Given the description of an element on the screen output the (x, y) to click on. 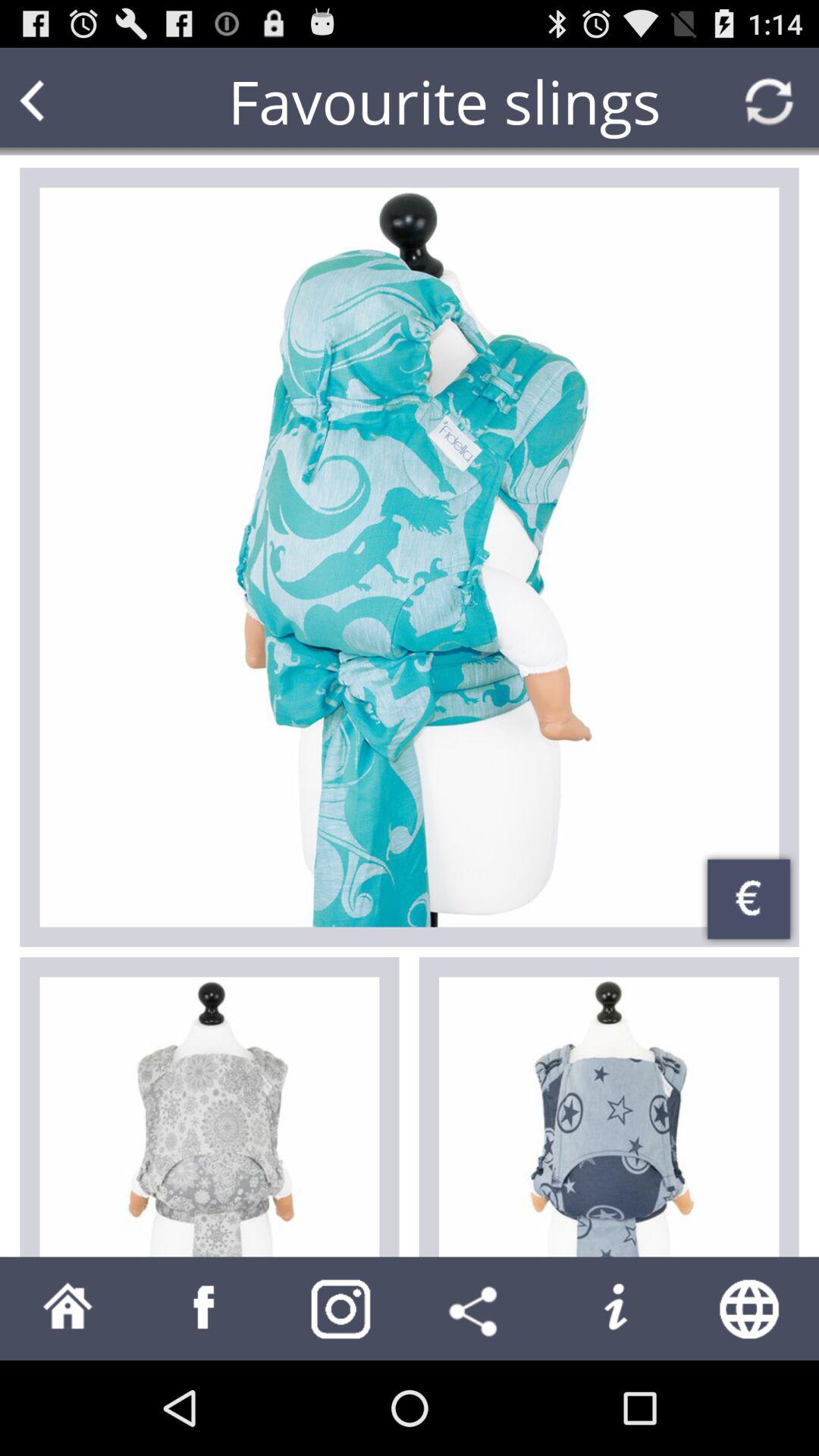
information button (614, 1308)
